Given the description of an element on the screen output the (x, y) to click on. 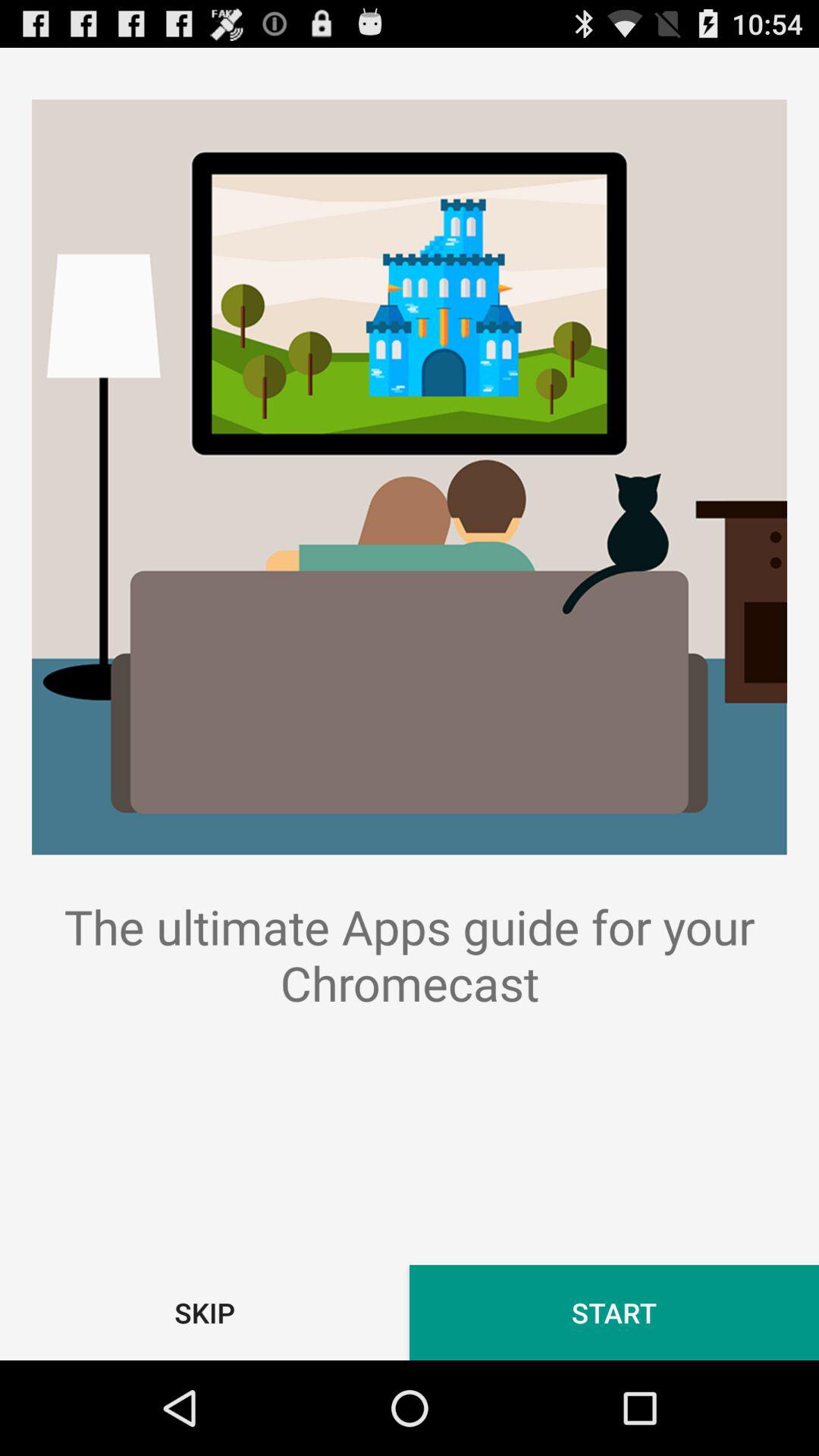
press the start (614, 1312)
